Given the description of an element on the screen output the (x, y) to click on. 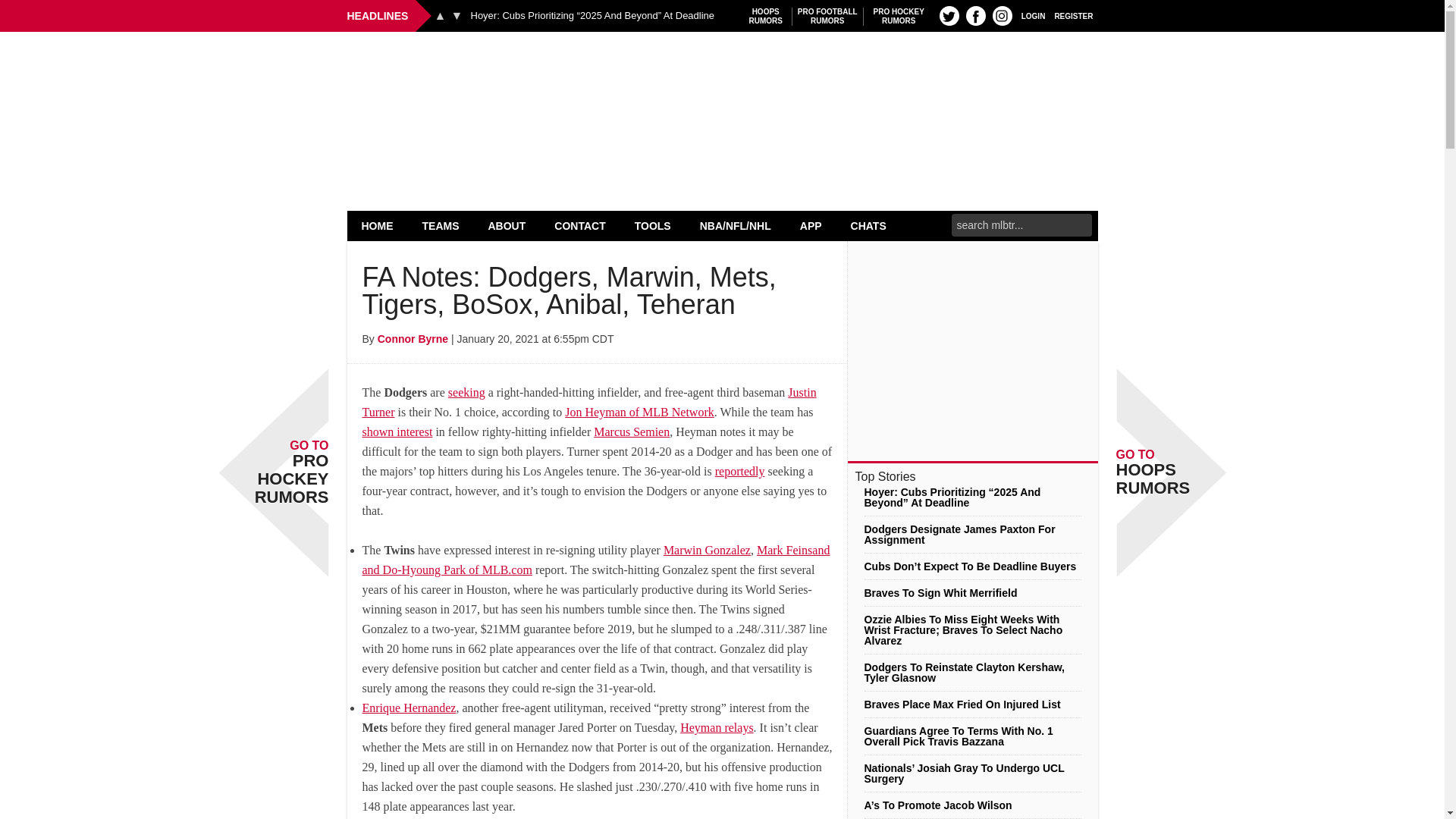
MLB Trade Rumors (722, 69)
HOME (765, 16)
Previous (377, 225)
TEAMS (439, 15)
Twitter profile (440, 225)
LOGIN (949, 15)
Instagram profile (1032, 15)
REGISTER (1001, 15)
FB profile (1073, 15)
Search (975, 15)
Next (827, 16)
